Given the description of an element on the screen output the (x, y) to click on. 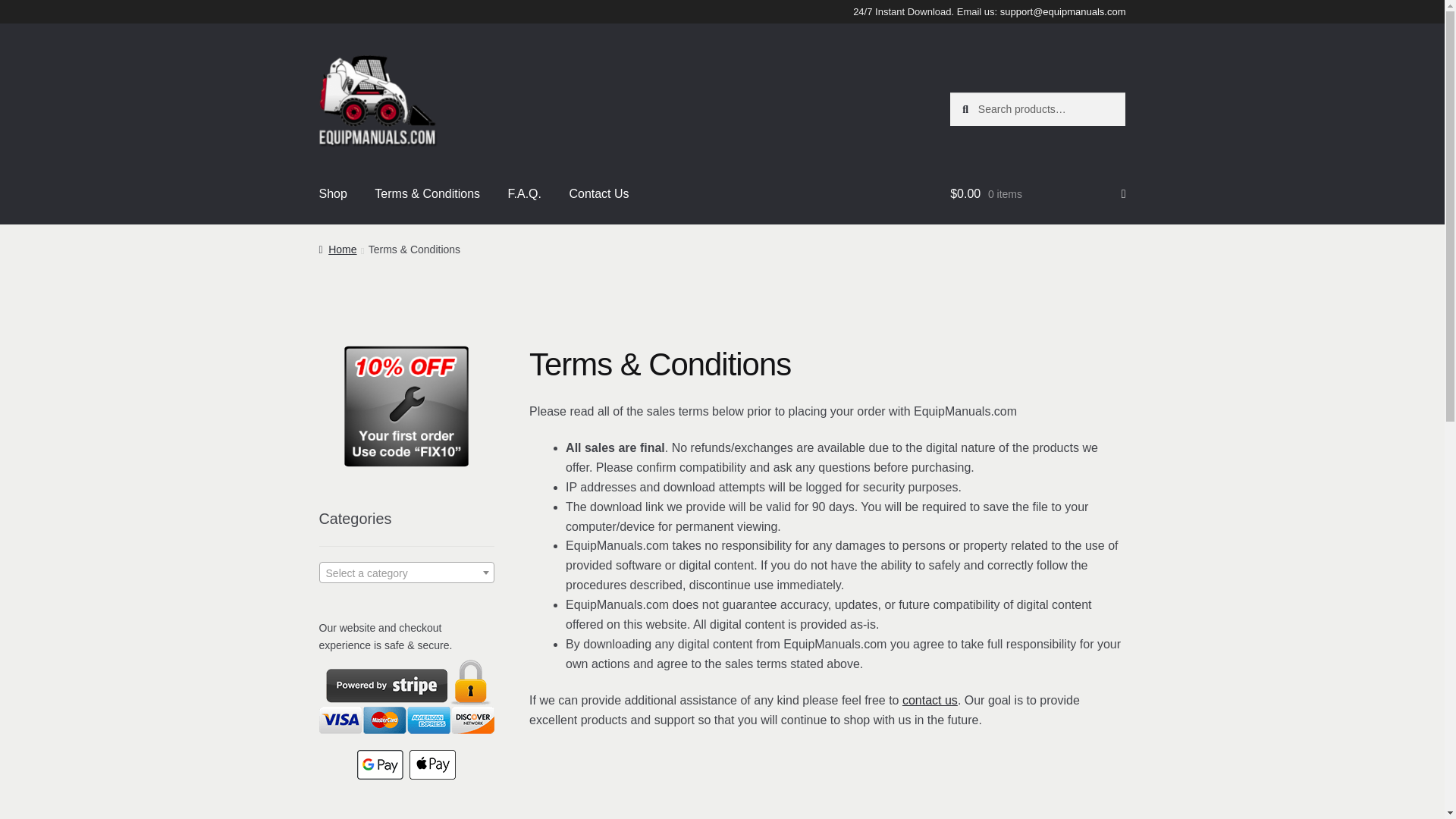
contact us (930, 699)
Home (337, 249)
Contact Us (598, 193)
F.A.Q. (524, 193)
View your shopping cart (1037, 193)
